Given the description of an element on the screen output the (x, y) to click on. 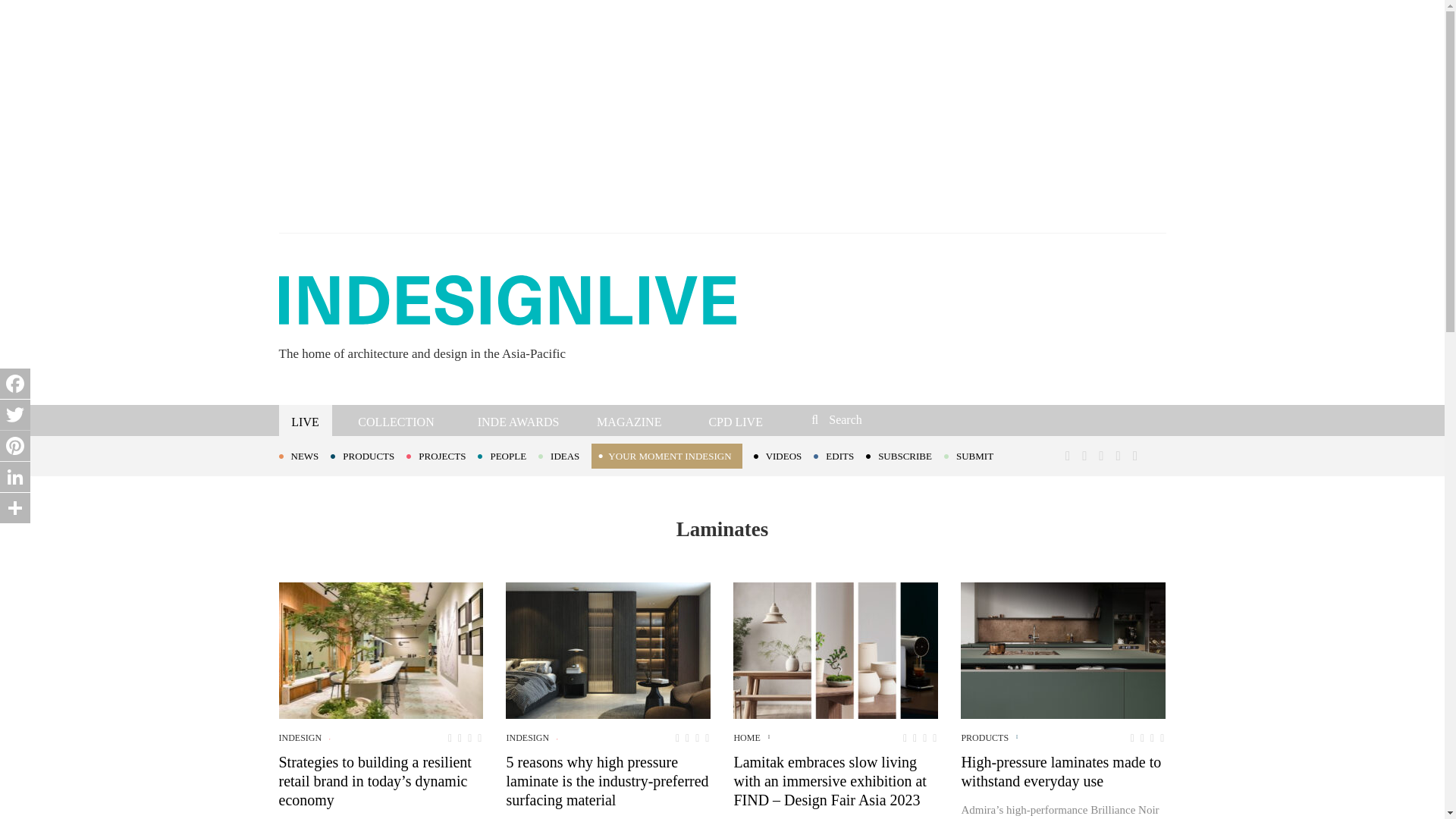
PROJECTS (441, 455)
SUBSCRIBE (904, 455)
NEWS (305, 455)
VIDEOS (783, 455)
PEOPLE (507, 455)
Search (913, 418)
PRODUCTS (368, 455)
IDEAS (564, 455)
